Given the description of an element on the screen output the (x, y) to click on. 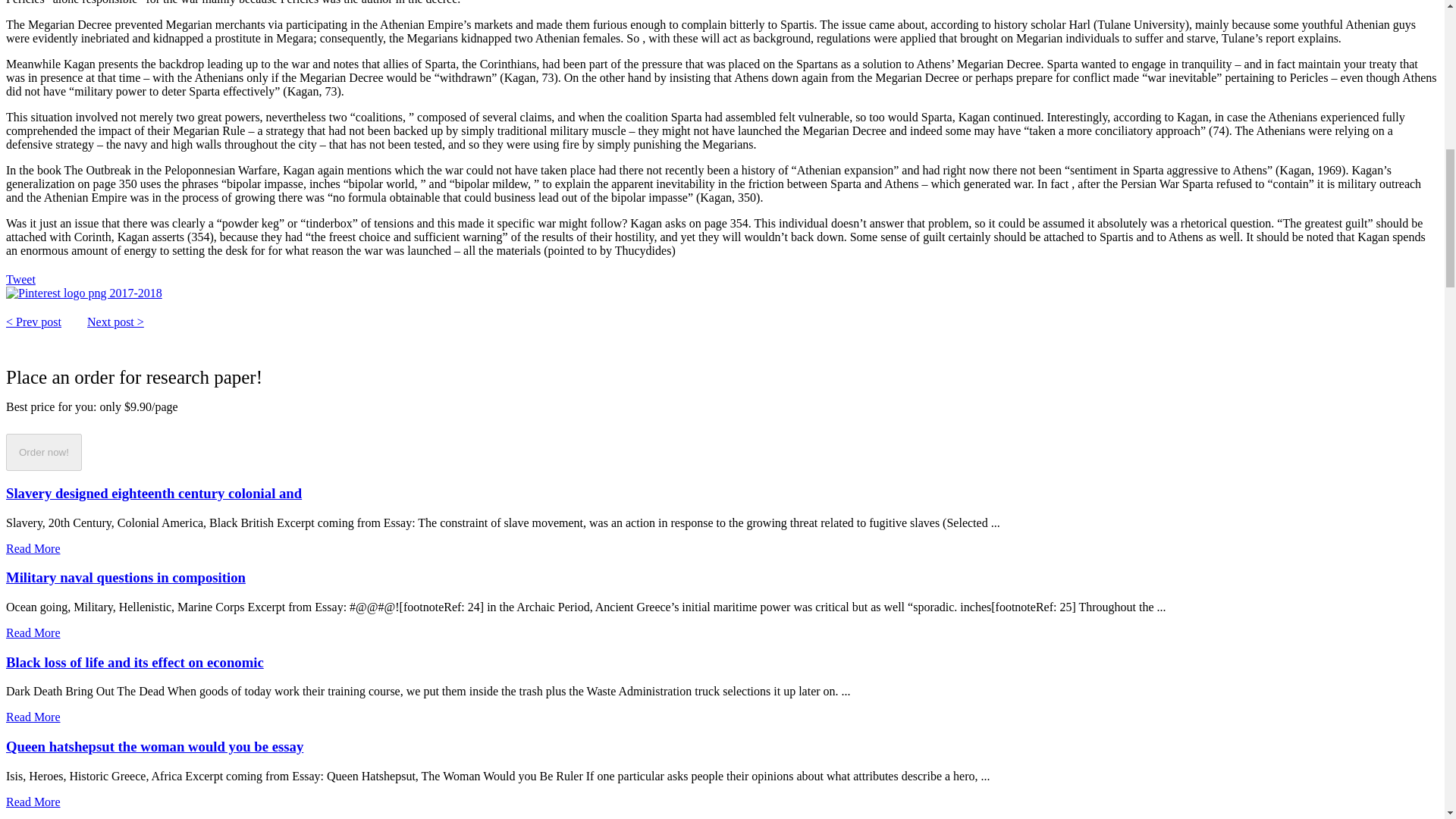
Read More (33, 632)
Tweet (19, 278)
Order now! (43, 452)
Read More (33, 548)
Read More (33, 716)
Read More (33, 801)
